Given the description of an element on the screen output the (x, y) to click on. 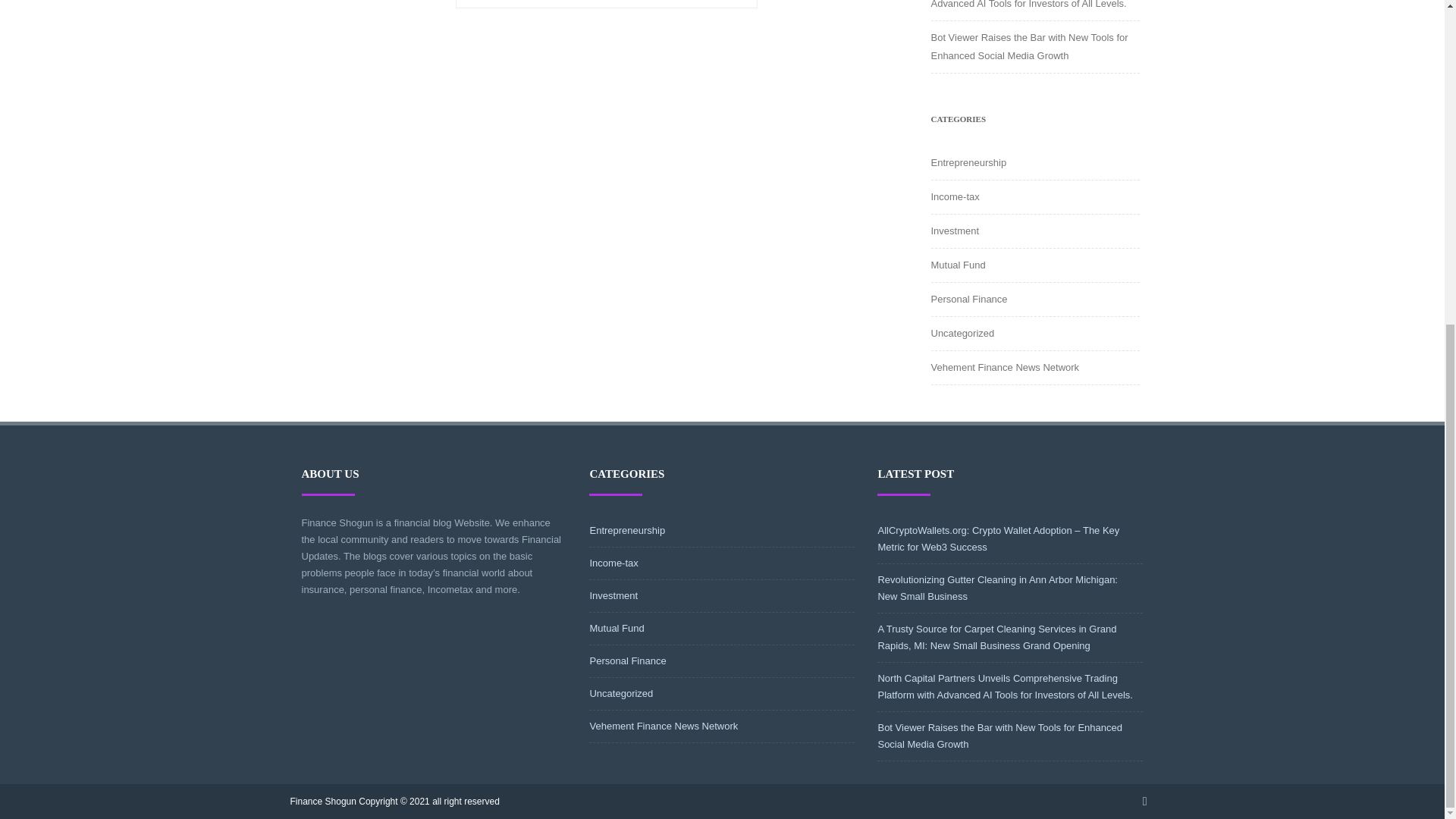
Investment (955, 230)
Entrepreneurship (627, 530)
Investment (613, 595)
Vehement Finance News Network (1005, 367)
Income-tax (955, 196)
Mutual Fund (958, 265)
Uncategorized (962, 333)
Entrepreneurship (969, 162)
